Given the description of an element on the screen output the (x, y) to click on. 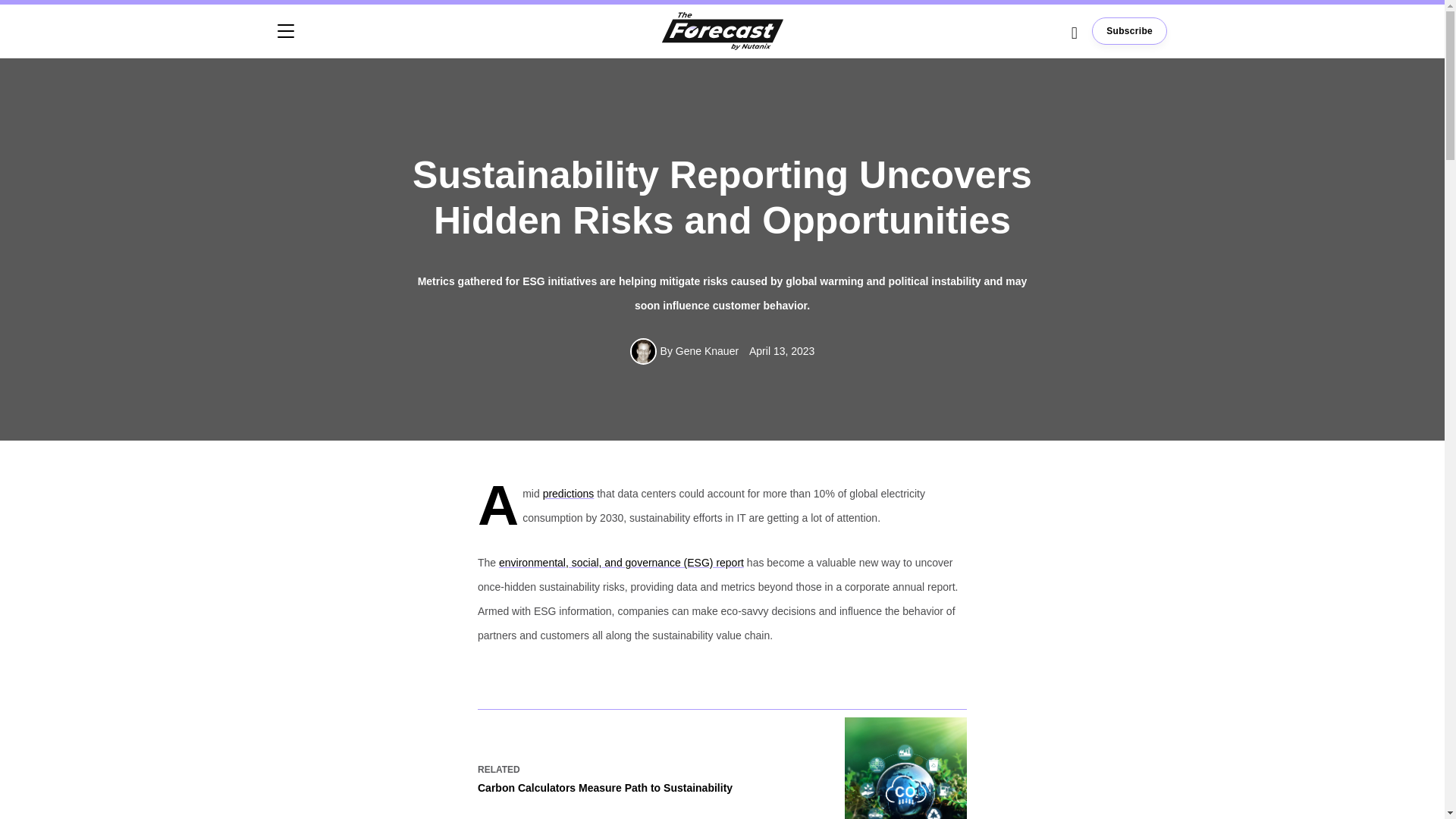
Carbon Calculators Measure Path to Sustainability (649, 796)
predictions (568, 493)
RELATED (498, 769)
Subscribe (1129, 31)
